Given the description of an element on the screen output the (x, y) to click on. 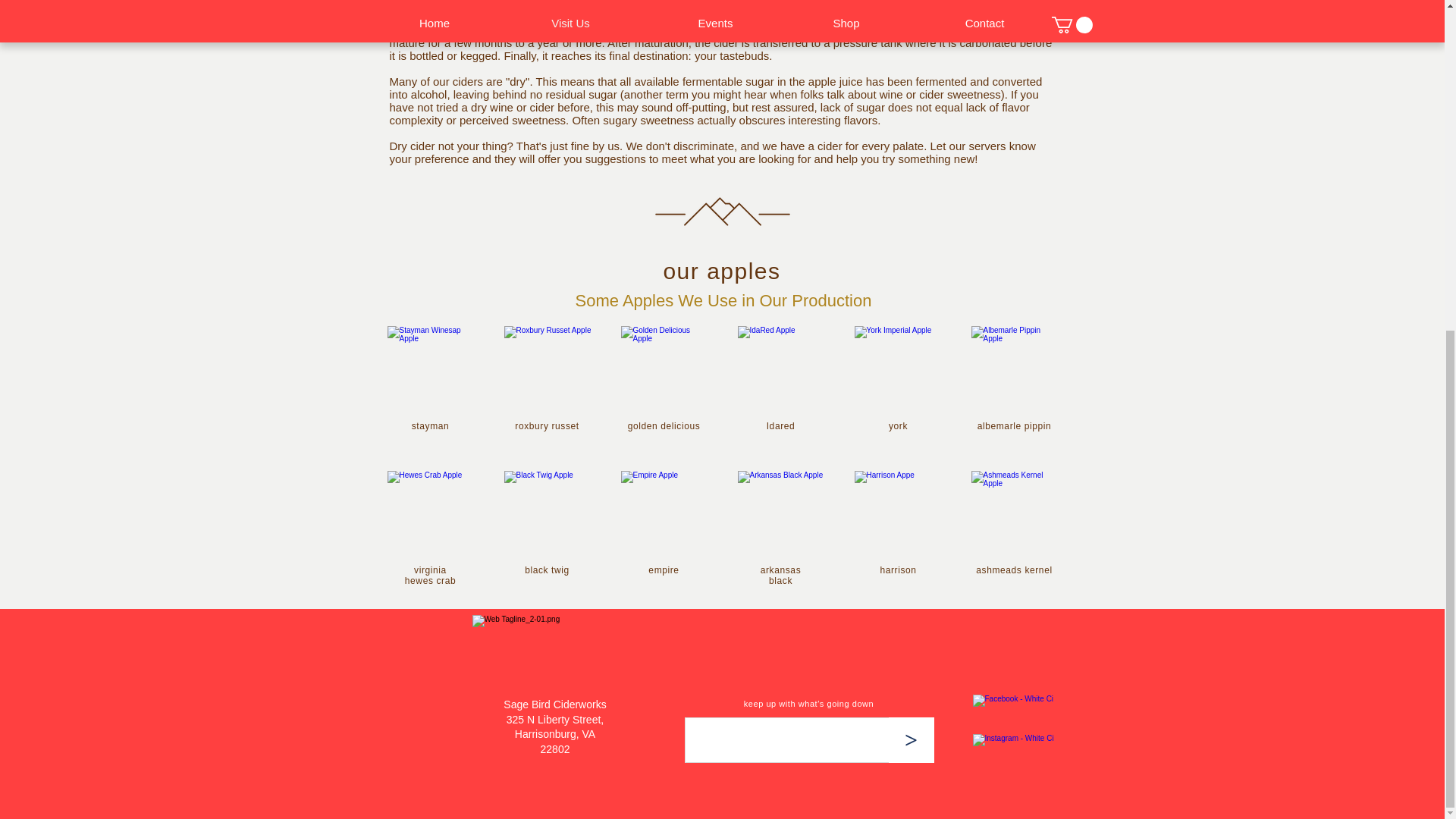
Click The Image To Learn More (663, 513)
Click The Image To Learn More (896, 369)
Click The Image To Learn More (1014, 513)
Click The Image To Learn More (430, 369)
Click The Image To Learn More (780, 513)
Click The Image To Learn More (1014, 369)
Click The Image To Learn More (663, 369)
Click The Image To Learn More (547, 513)
Click The Image To Learn More (430, 513)
Click The Image To Learn More (547, 369)
